Given the description of an element on the screen output the (x, y) to click on. 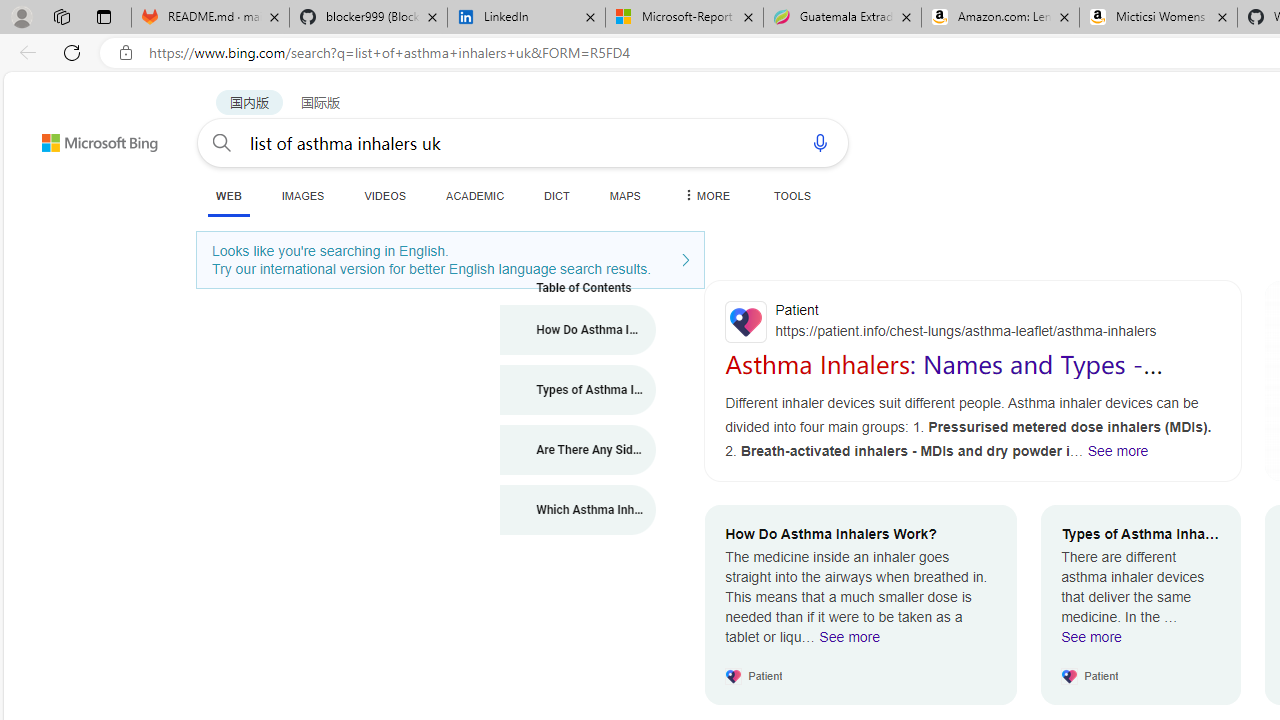
ACADEMIC (475, 195)
VIDEOS (384, 195)
Skip to content (63, 133)
TOOLS (792, 195)
Global web icon (745, 321)
ACADEMIC (475, 195)
MAPS (624, 195)
